Given the description of an element on the screen output the (x, y) to click on. 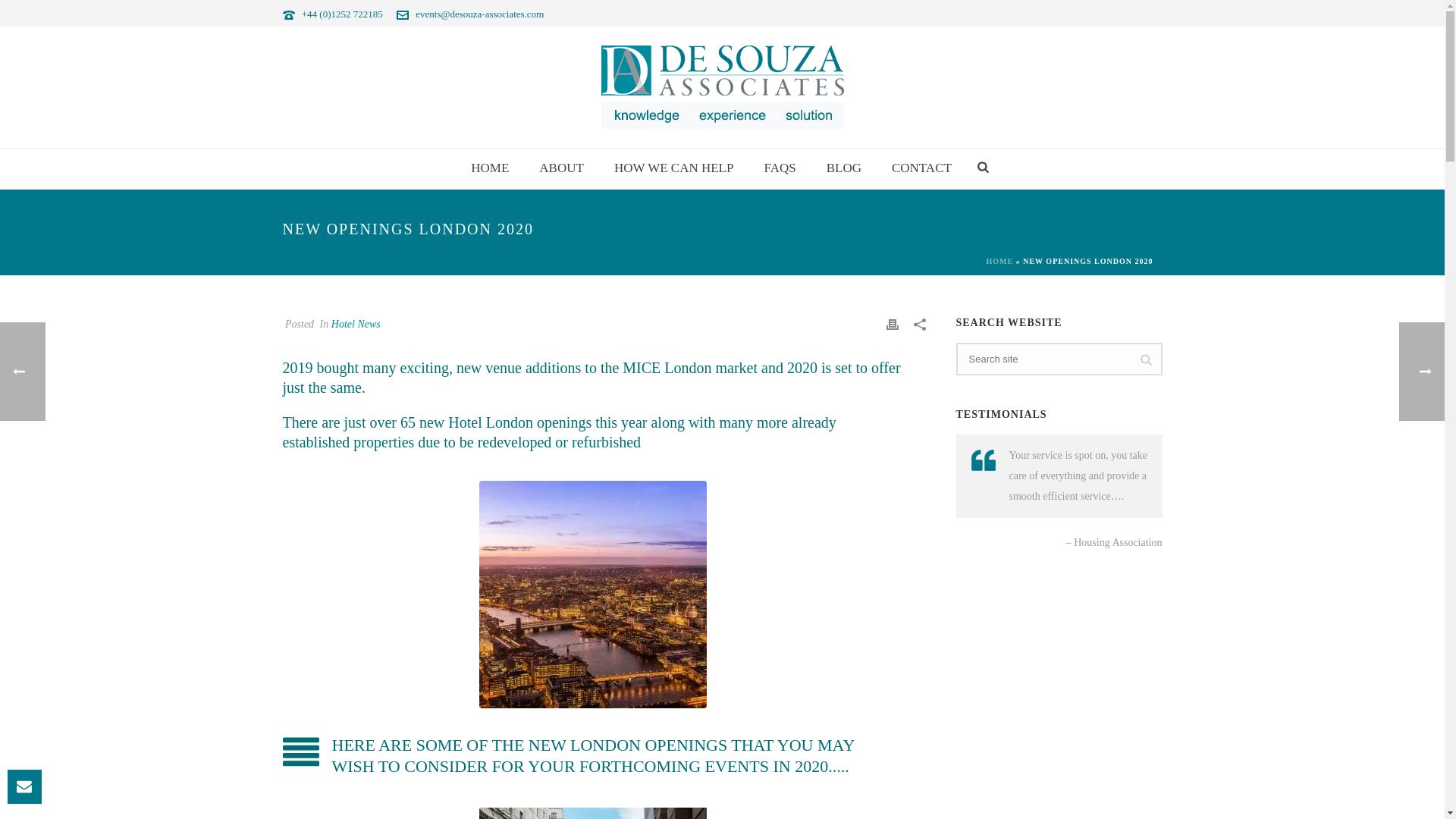
ABOUT (561, 168)
Desouza Associates (721, 87)
HOME (489, 168)
BLOG (843, 168)
HOW WE CAN HELP (673, 168)
HOME (489, 168)
ABOUT (561, 168)
CONTACT (921, 168)
CONTACT (921, 168)
city-of-london (592, 813)
FAQS (779, 168)
HOW WE CAN HELP (673, 168)
BLOG (843, 168)
FAQS (779, 168)
London skyline (592, 594)
